Given the description of an element on the screen output the (x, y) to click on. 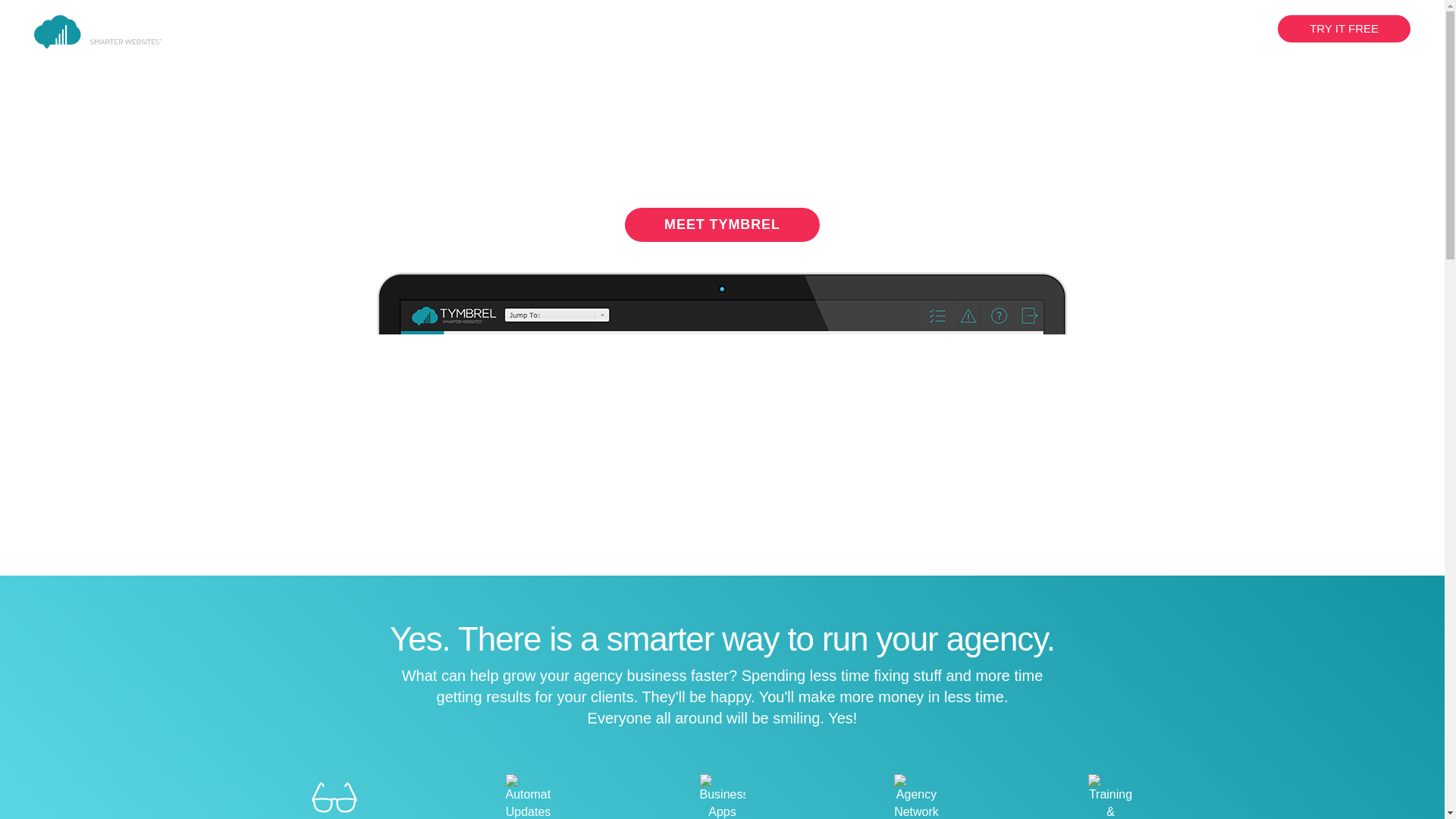
ABOUT (1100, 28)
BLOG (1165, 28)
LOGIN (1229, 28)
About Tymbrel (1100, 28)
Tymbrel Software for Smarter Websites (1018, 28)
WHY TYMBREL? (911, 28)
TRY IT FREE (1344, 28)
SOFTWARE (1018, 28)
MEET TYMBREL (721, 224)
